Given the description of an element on the screen output the (x, y) to click on. 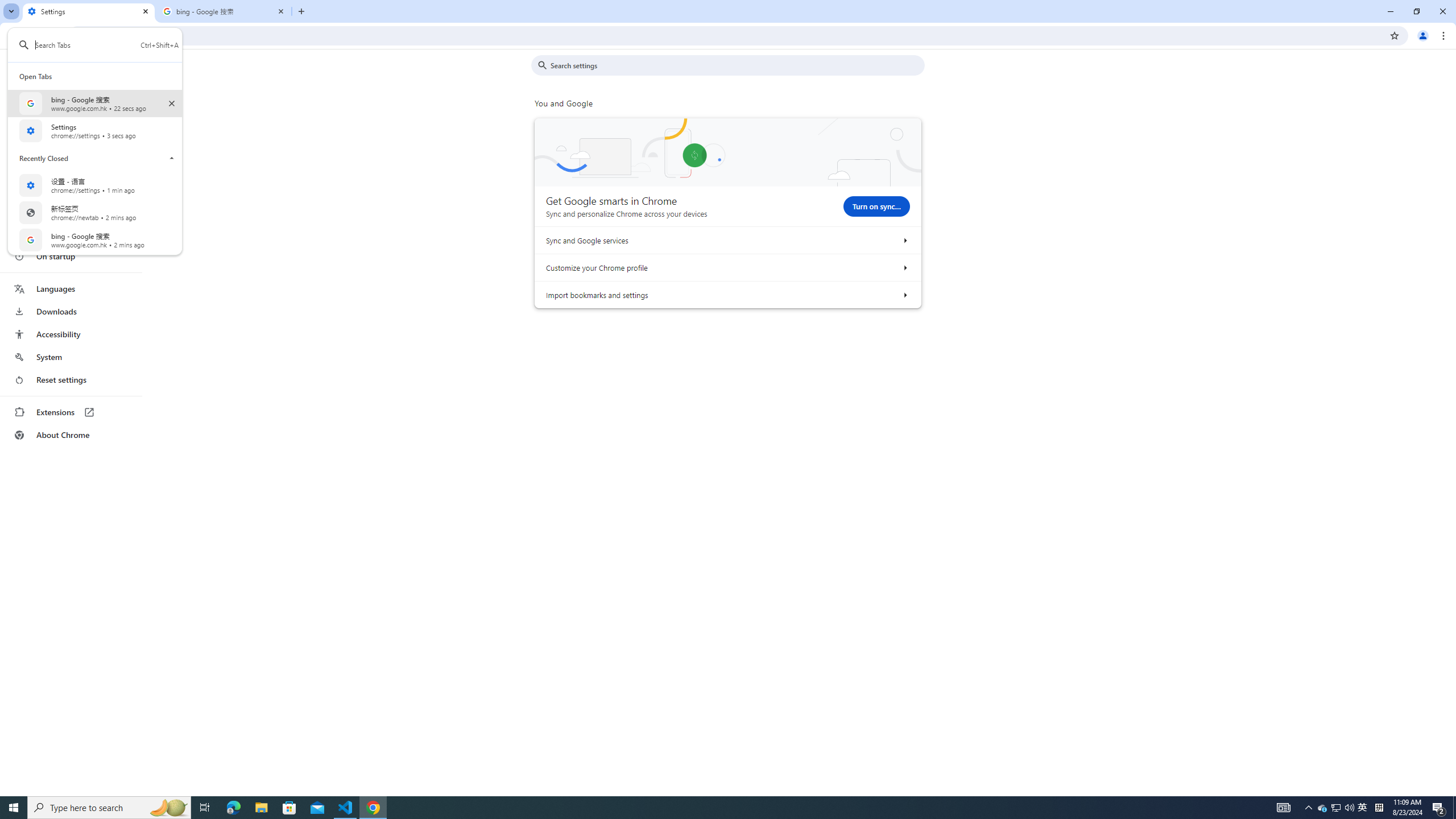
Search settings (735, 65)
Customize your Chrome profile (904, 266)
Extensions (70, 412)
About Chrome (1322, 807)
Sync and Google services (70, 434)
Running applications (904, 239)
Task View (700, 807)
Action Center, 2 new notifications (204, 807)
